Given the description of an element on the screen output the (x, y) to click on. 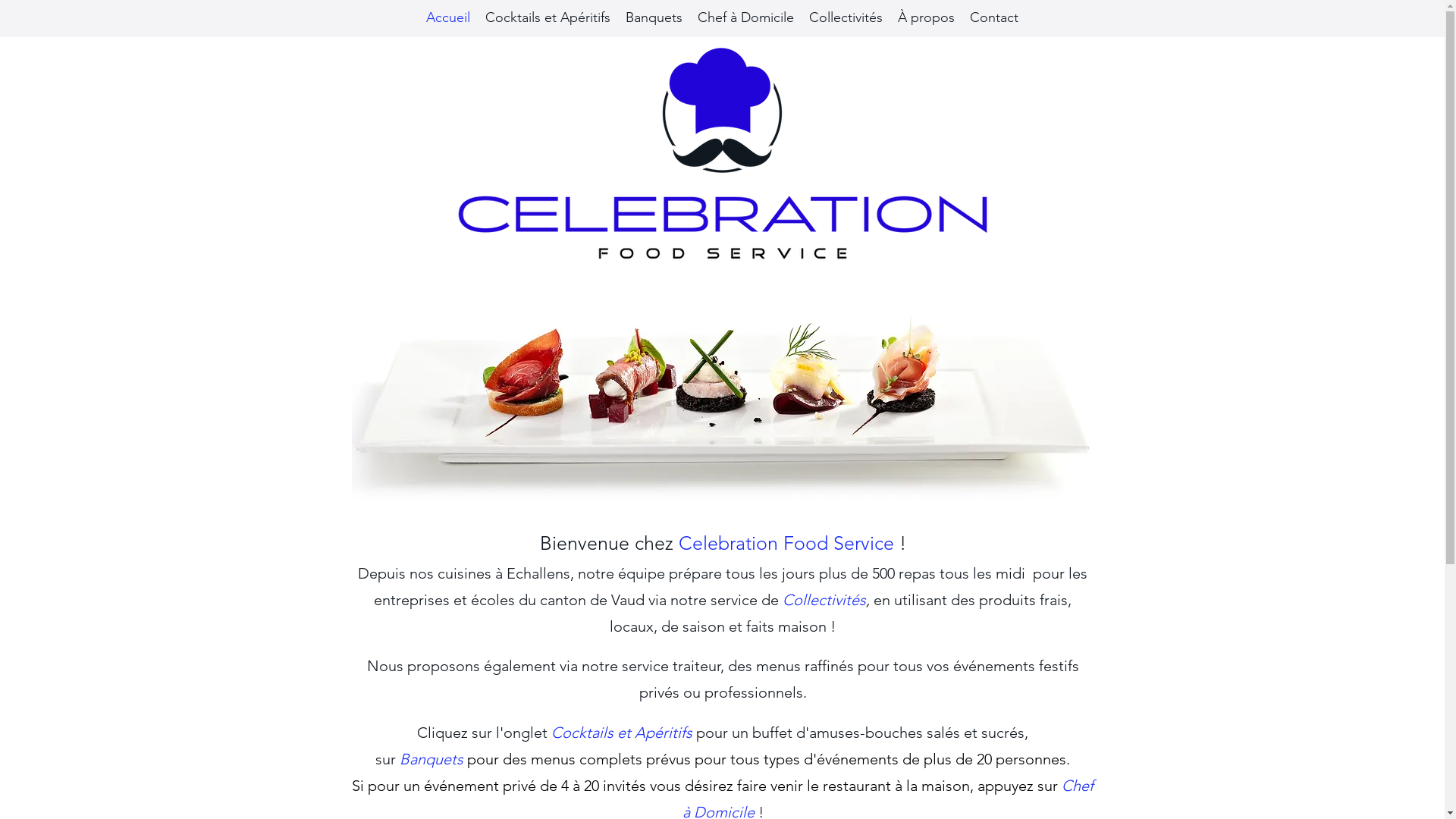
Accueil Element type: text (447, 12)
Banquets Element type: text (654, 12)
Contact Element type: text (994, 12)
Banquets Element type: text (431, 758)
